Given the description of an element on the screen output the (x, y) to click on. 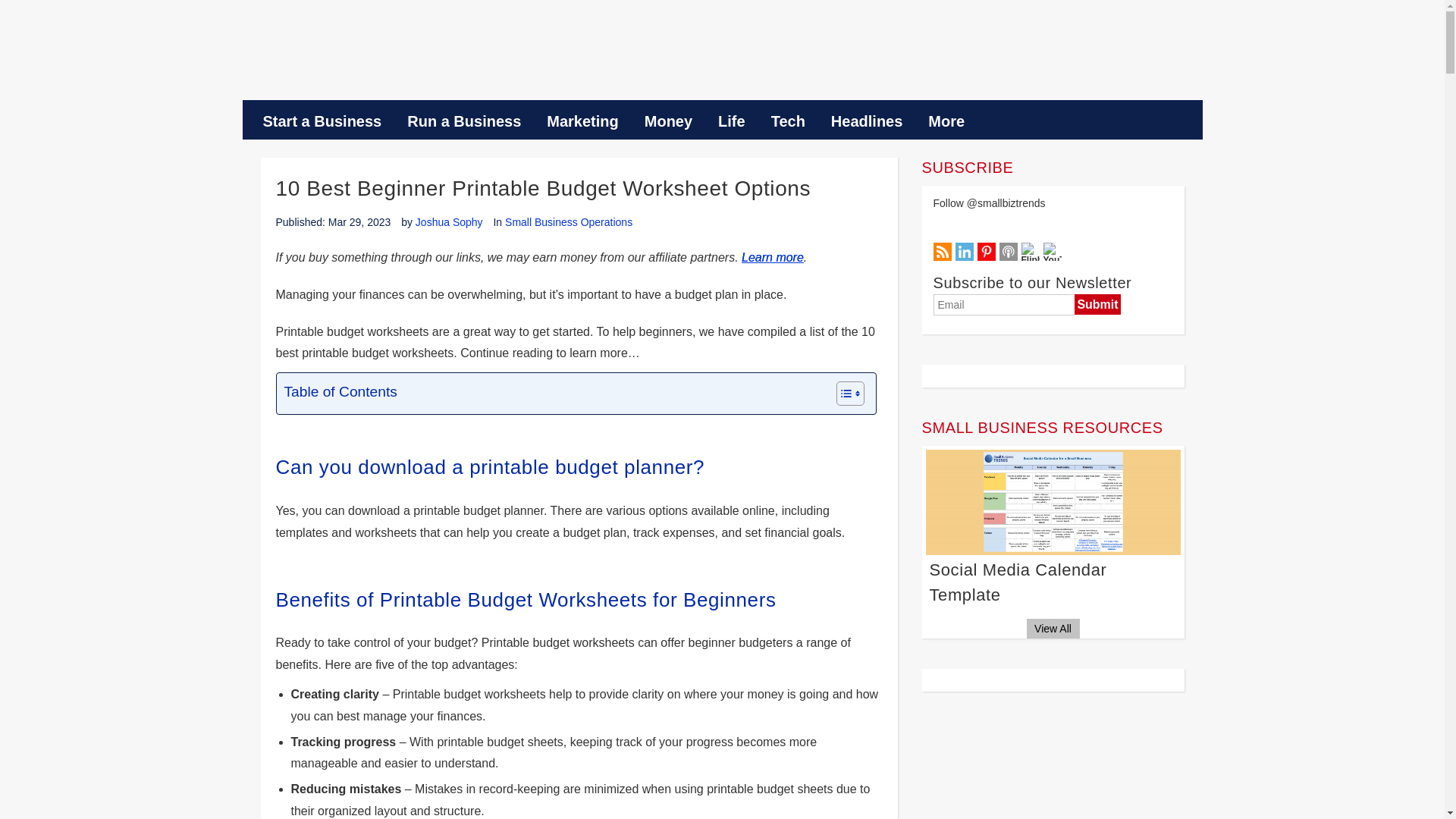
Life (731, 121)
Posts by Joshua Sophy (448, 222)
Small Business Trends (351, 58)
Small Business Trends (351, 58)
Money (667, 121)
Tech (788, 121)
Start a Business (322, 121)
Headlines (866, 121)
Marketing (582, 121)
View all articles in Small Business Operations (568, 222)
